Given the description of an element on the screen output the (x, y) to click on. 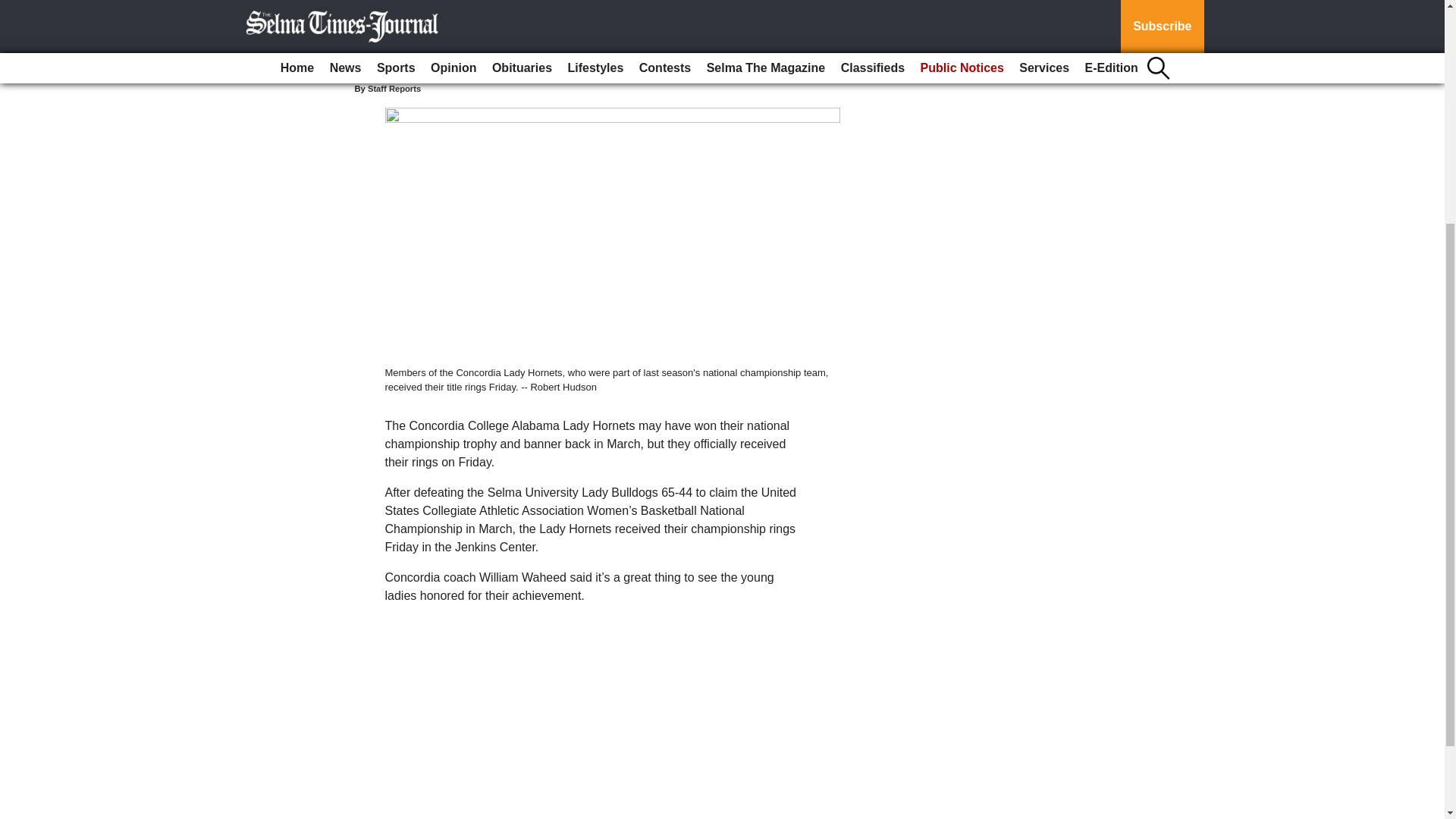
Staff Reports (394, 88)
